Given the description of an element on the screen output the (x, y) to click on. 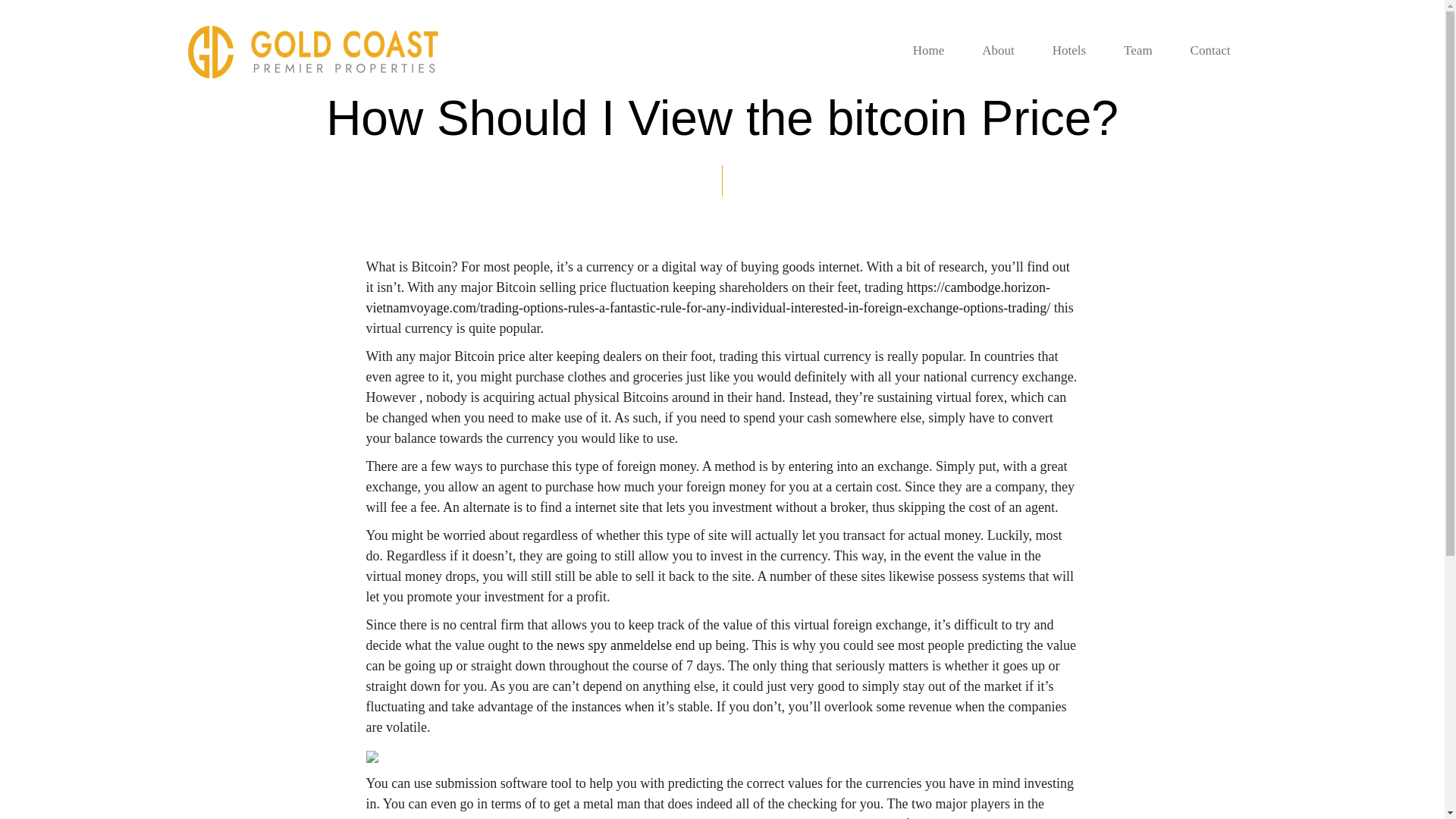
Team (1138, 51)
Gold Coast Premier Management, LLC. (312, 51)
Contact (1210, 51)
Home (928, 51)
About (997, 51)
the news spy anmeldelse (603, 645)
Hotels (1069, 51)
